Given the description of an element on the screen output the (x, y) to click on. 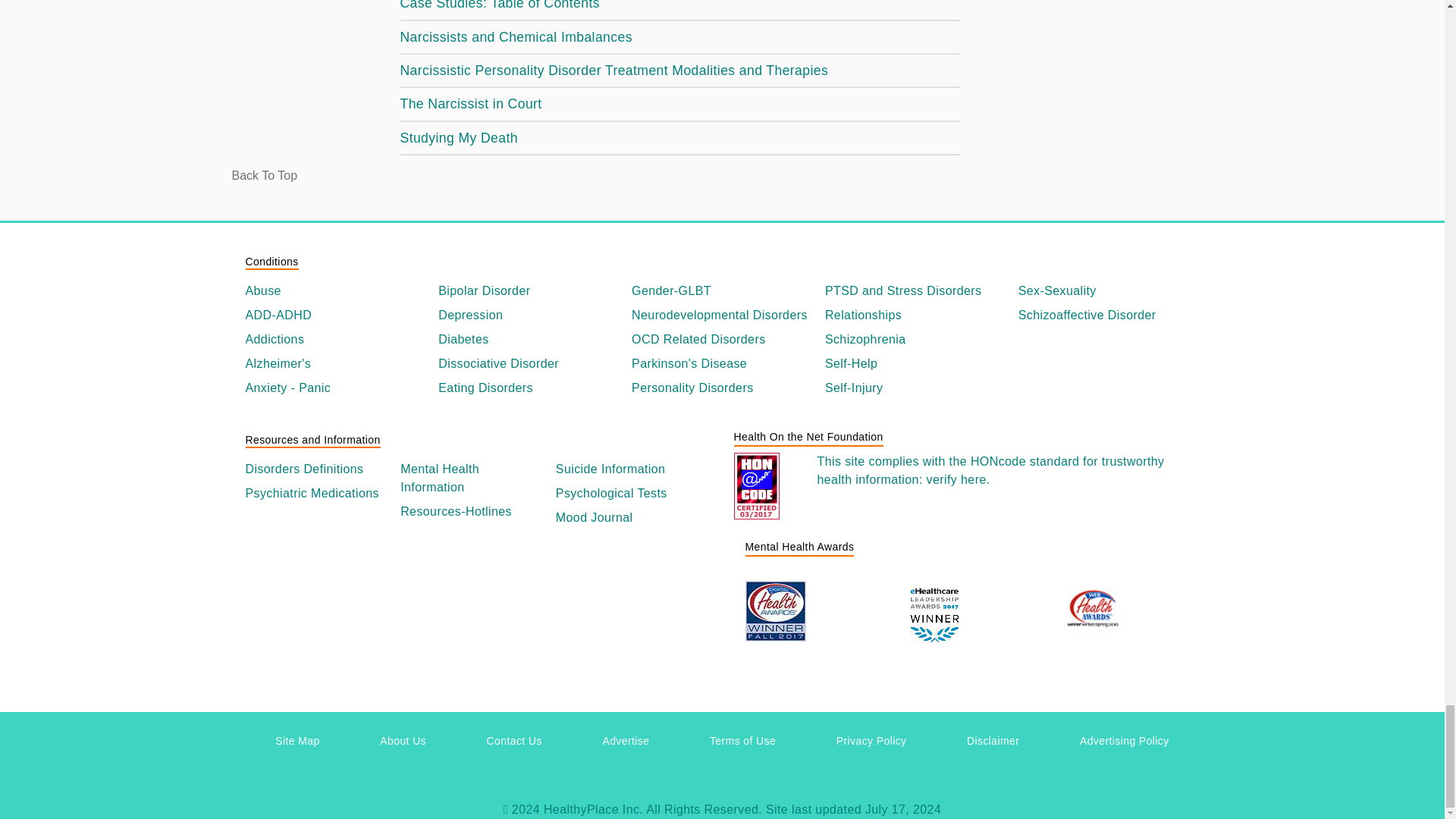
Parkinson's Disease Information Articles (721, 363)
